Given the description of an element on the screen output the (x, y) to click on. 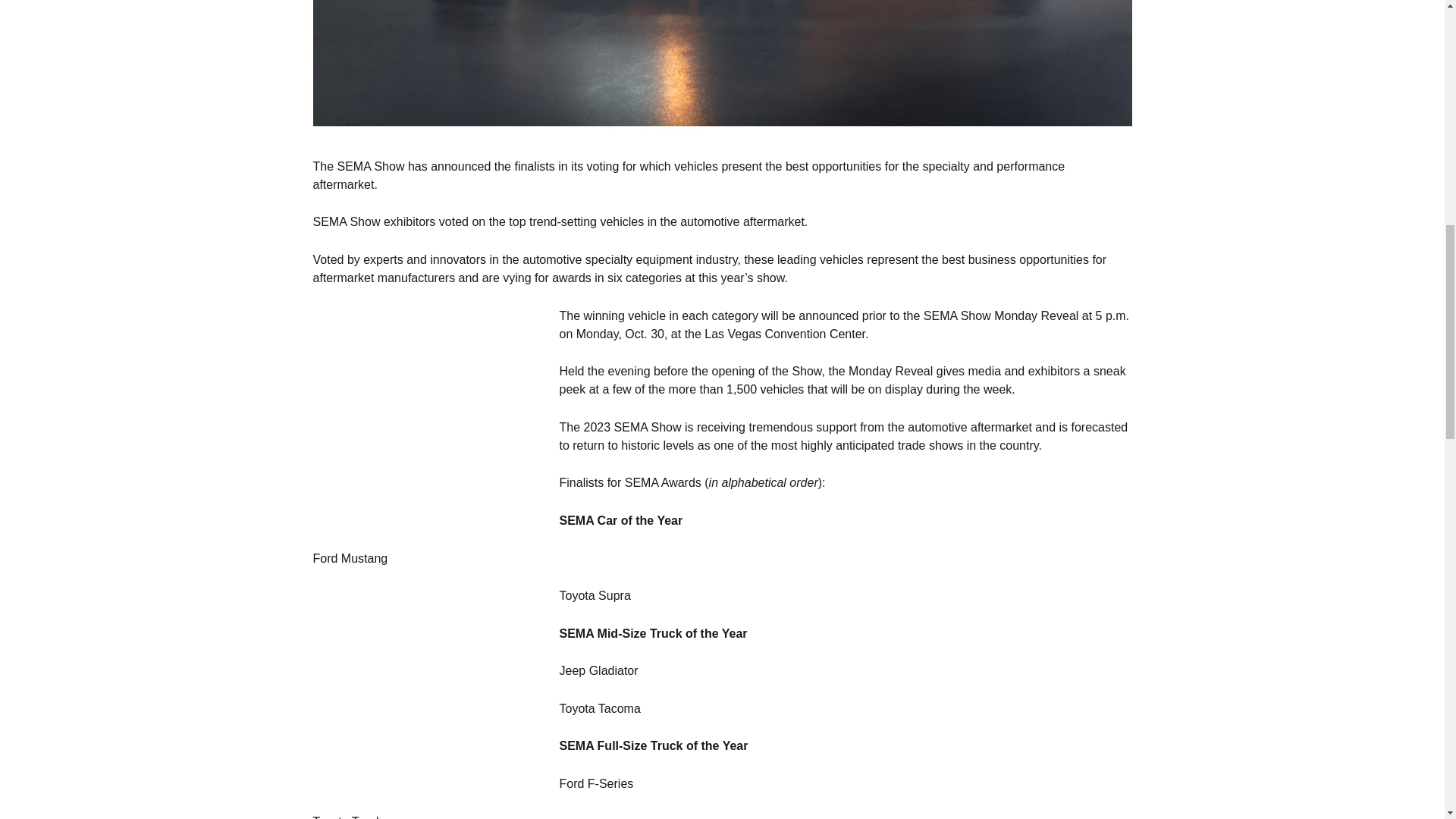
3rd party ad content (426, 681)
3rd party ad content (1017, 568)
3rd party ad content (1017, 759)
3rd party ad content (426, 401)
